Given the description of an element on the screen output the (x, y) to click on. 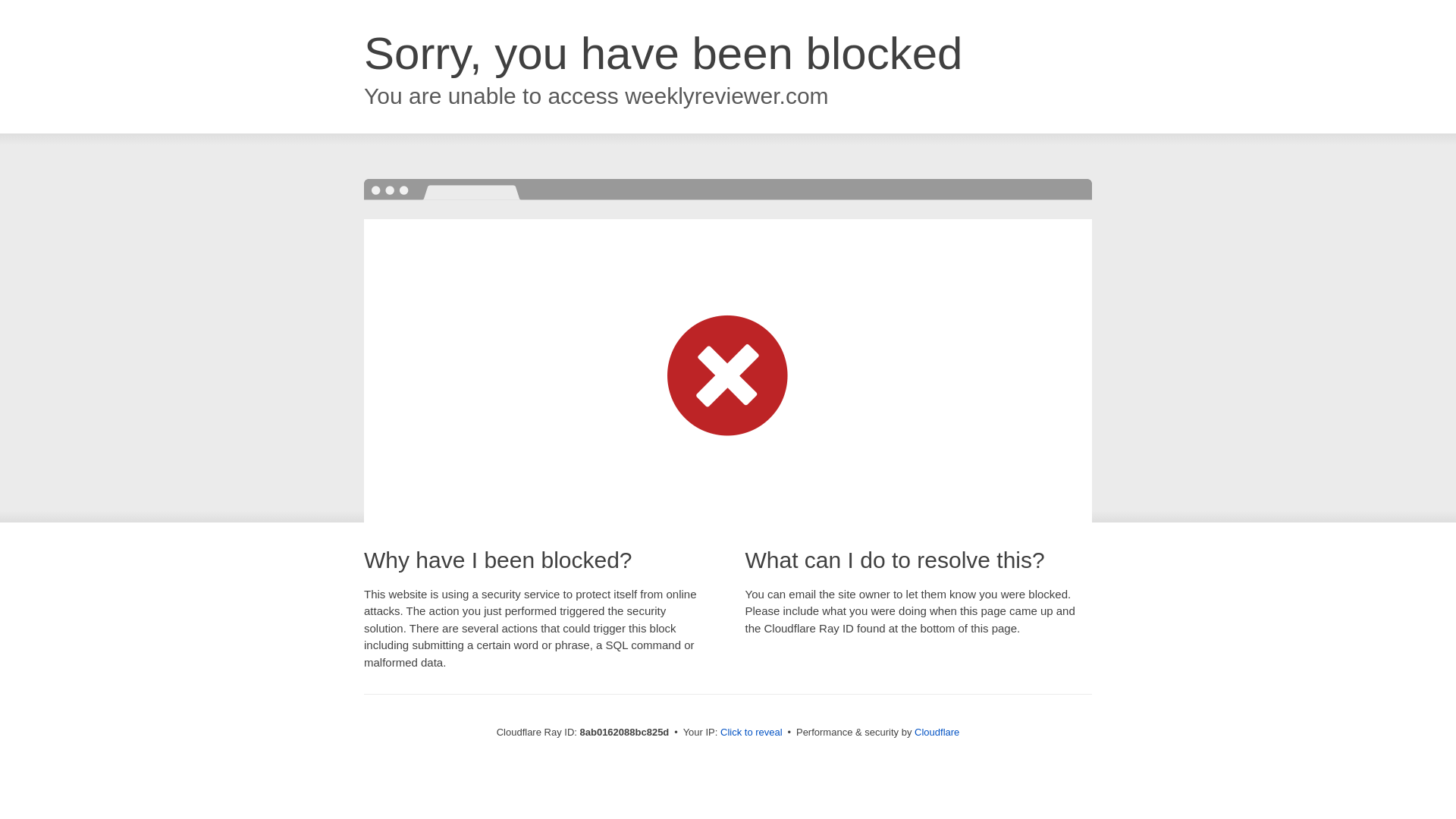
Click to reveal (751, 732)
Cloudflare (936, 731)
